Given the description of an element on the screen output the (x, y) to click on. 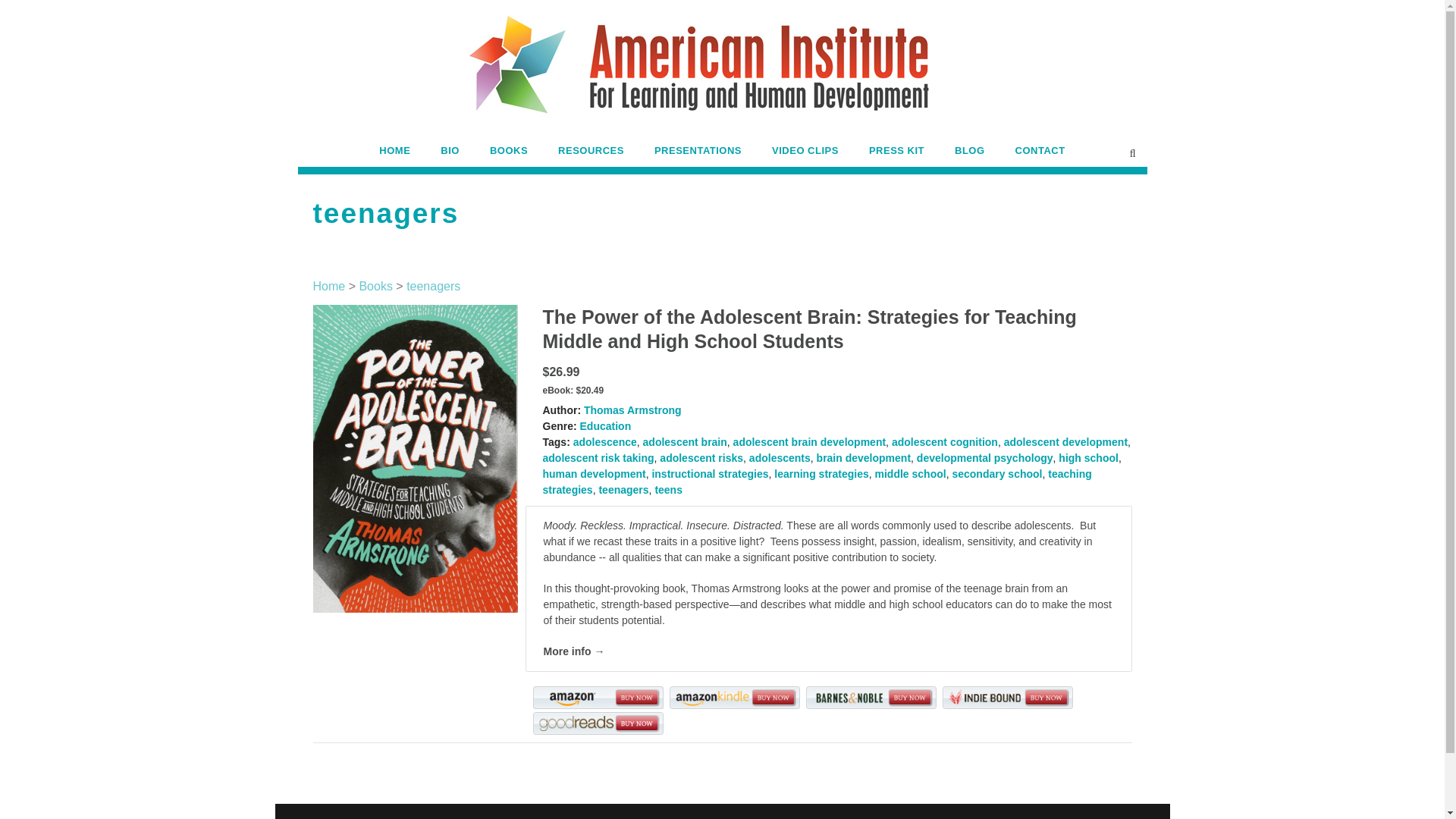
adolescent risks (700, 458)
VIDEO CLIPS (804, 154)
Home (329, 286)
BOOKS (508, 154)
adolescent risk taking (598, 458)
developmental psychology (984, 458)
HOME (394, 154)
high school (1088, 458)
Education (605, 426)
Books (374, 286)
brain development (863, 458)
RESOURCES (590, 154)
adolescent brain (684, 441)
The American Institute for Learning and Human Development (722, 76)
PRESENTATIONS (697, 154)
